Given the description of an element on the screen output the (x, y) to click on. 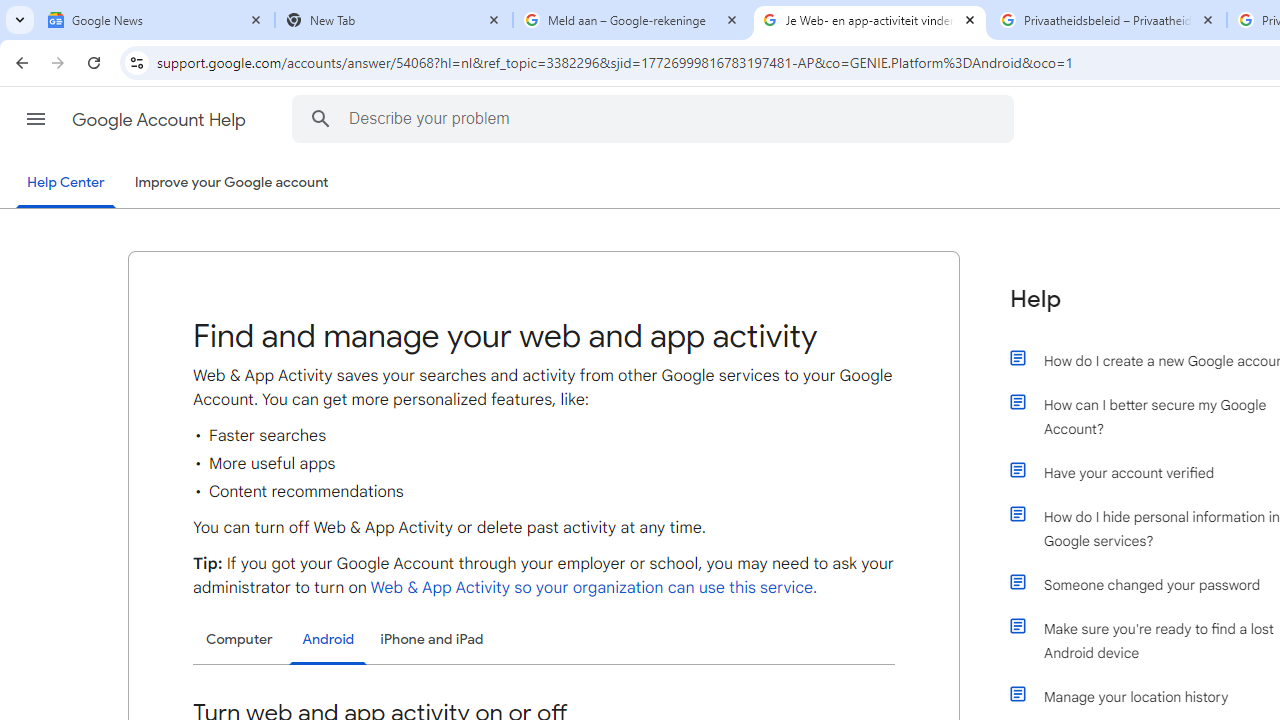
Improve your Google account (231, 183)
iPhone and iPad (431, 639)
Android (328, 640)
Google News (156, 20)
Main menu (35, 119)
Reload (93, 62)
Back (19, 62)
Close (1208, 19)
View site information (136, 62)
Google Account Help (160, 119)
Search tabs (20, 20)
Describe your problem (655, 118)
